Given the description of an element on the screen output the (x, y) to click on. 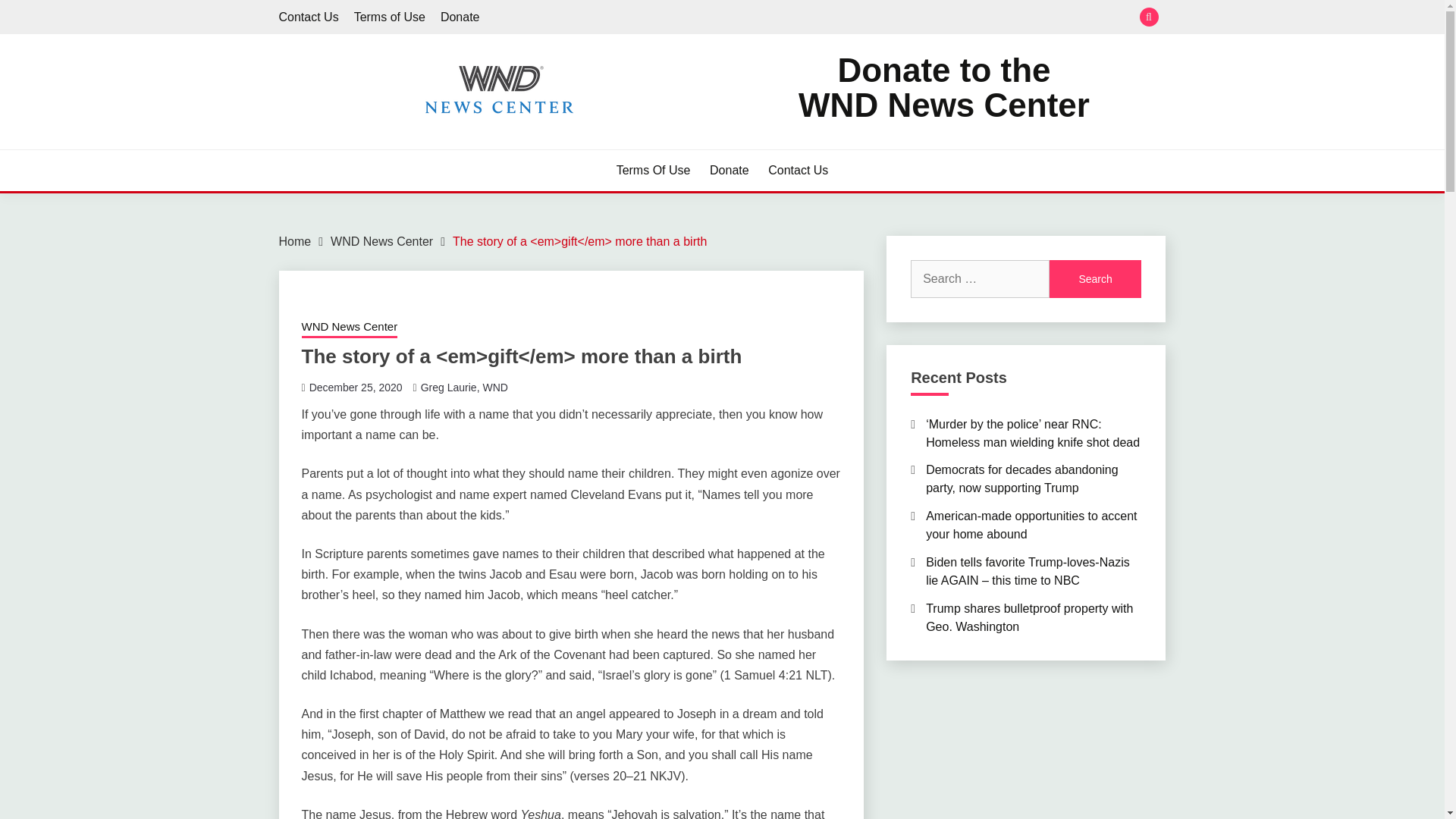
WND NEWS CENTER (419, 142)
WND News Center (381, 241)
December 25, 2020 (355, 387)
Contact Us (309, 16)
Search (832, 18)
WND News Center (349, 328)
Donate (729, 170)
Search (1095, 279)
Home (295, 241)
Terms Of Use (652, 170)
Contact Us (798, 170)
Donate (460, 16)
Greg Laurie, WND (943, 87)
Terms of Use (464, 387)
